Given the description of an element on the screen output the (x, y) to click on. 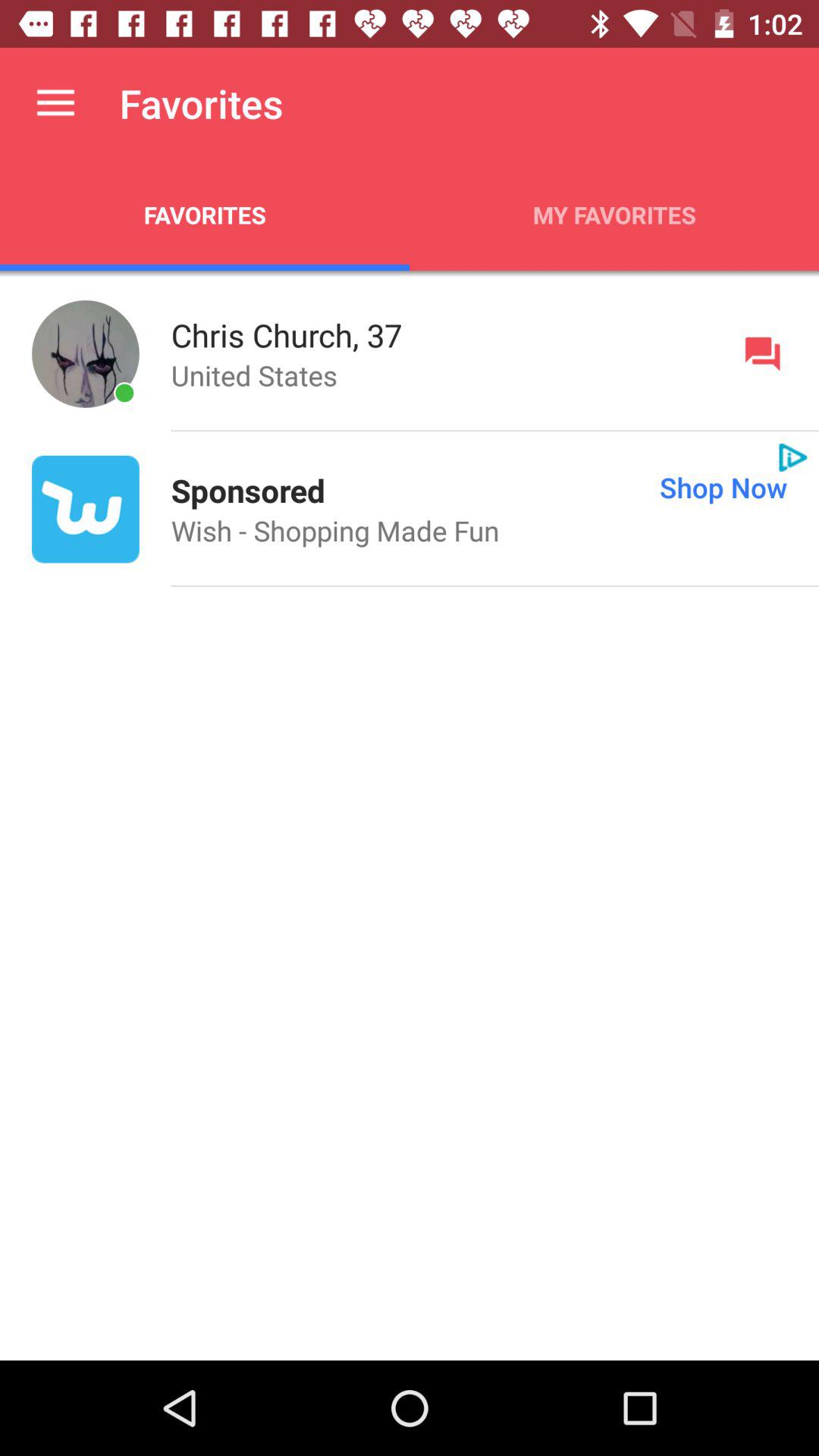
turn on icon above wish shopping made (572, 487)
